Given the description of an element on the screen output the (x, y) to click on. 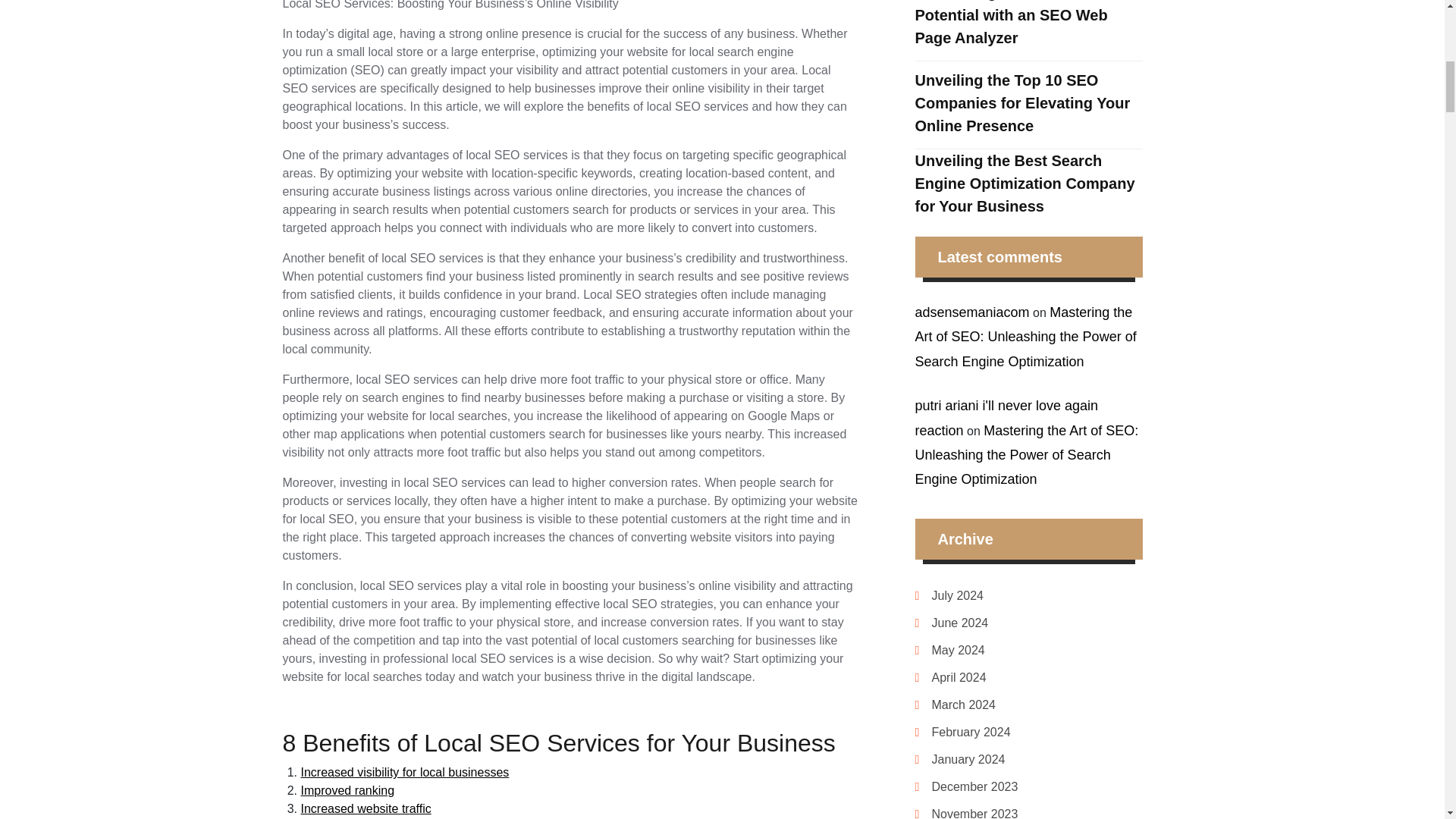
April 2024 (958, 677)
Improved ranking (346, 789)
July 2024 (957, 595)
Increased visibility for local businesses (403, 771)
June 2024 (959, 623)
Increased website traffic (364, 808)
putri ariani i'll never love again reaction (1005, 417)
adsensemaniacom (971, 312)
May 2024 (957, 650)
